Given the description of an element on the screen output the (x, y) to click on. 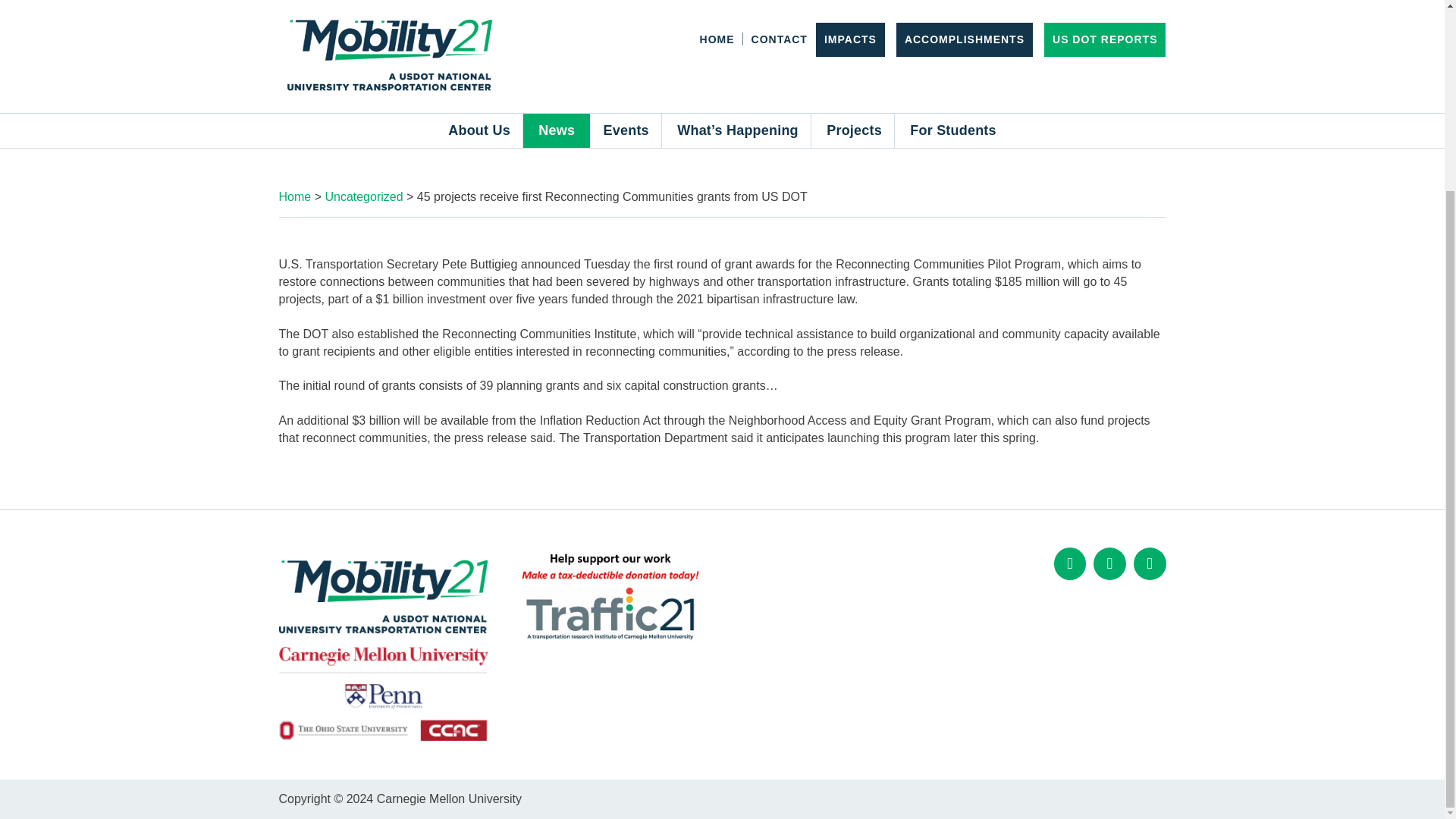
Twitter (1109, 563)
Go to the Uncategorized category archives. (363, 196)
Go to M21. (295, 196)
YouTube (1150, 563)
Facebook (1070, 563)
